Given the description of an element on the screen output the (x, y) to click on. 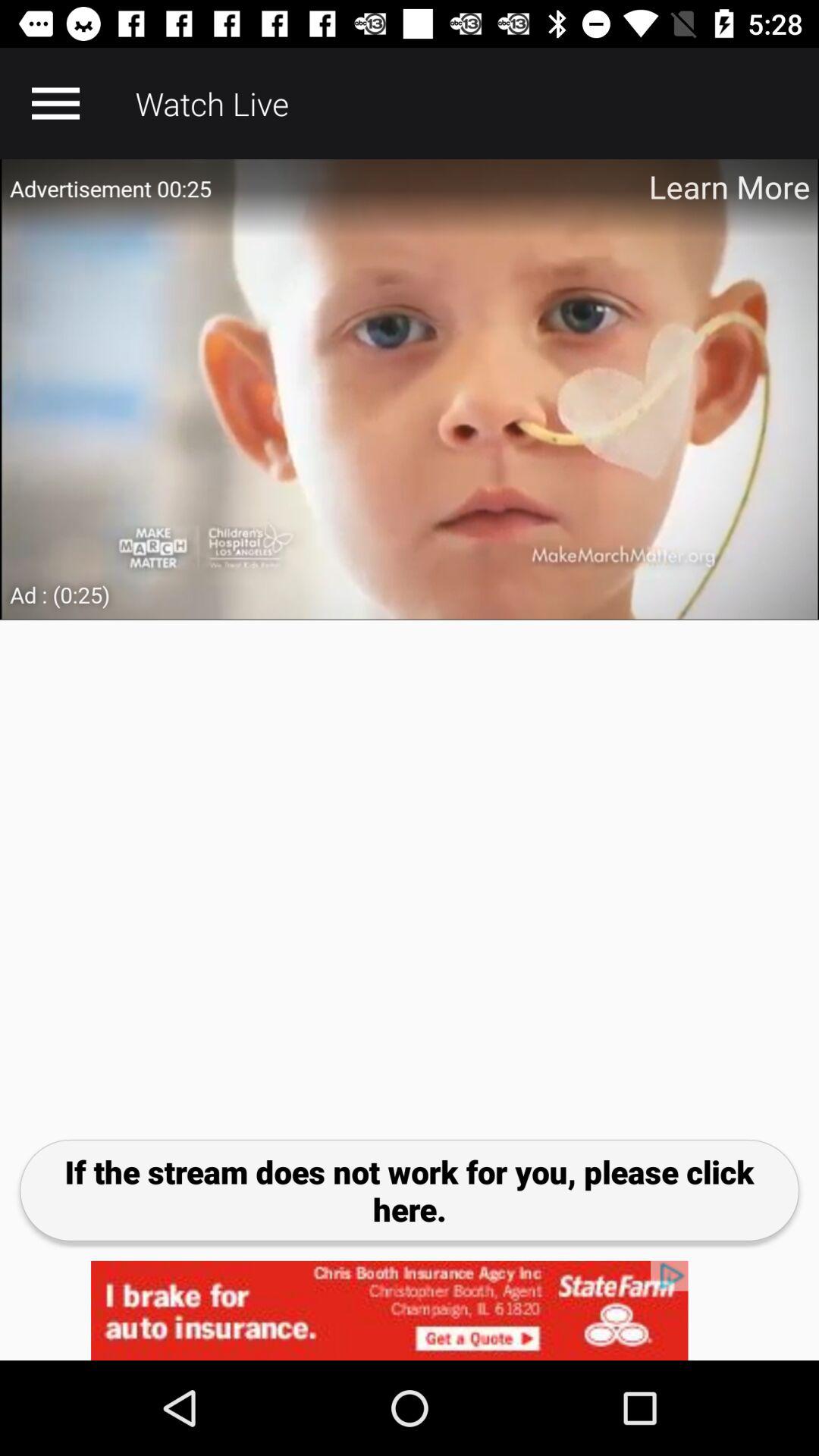
open menu option (55, 103)
